Given the description of an element on the screen output the (x, y) to click on. 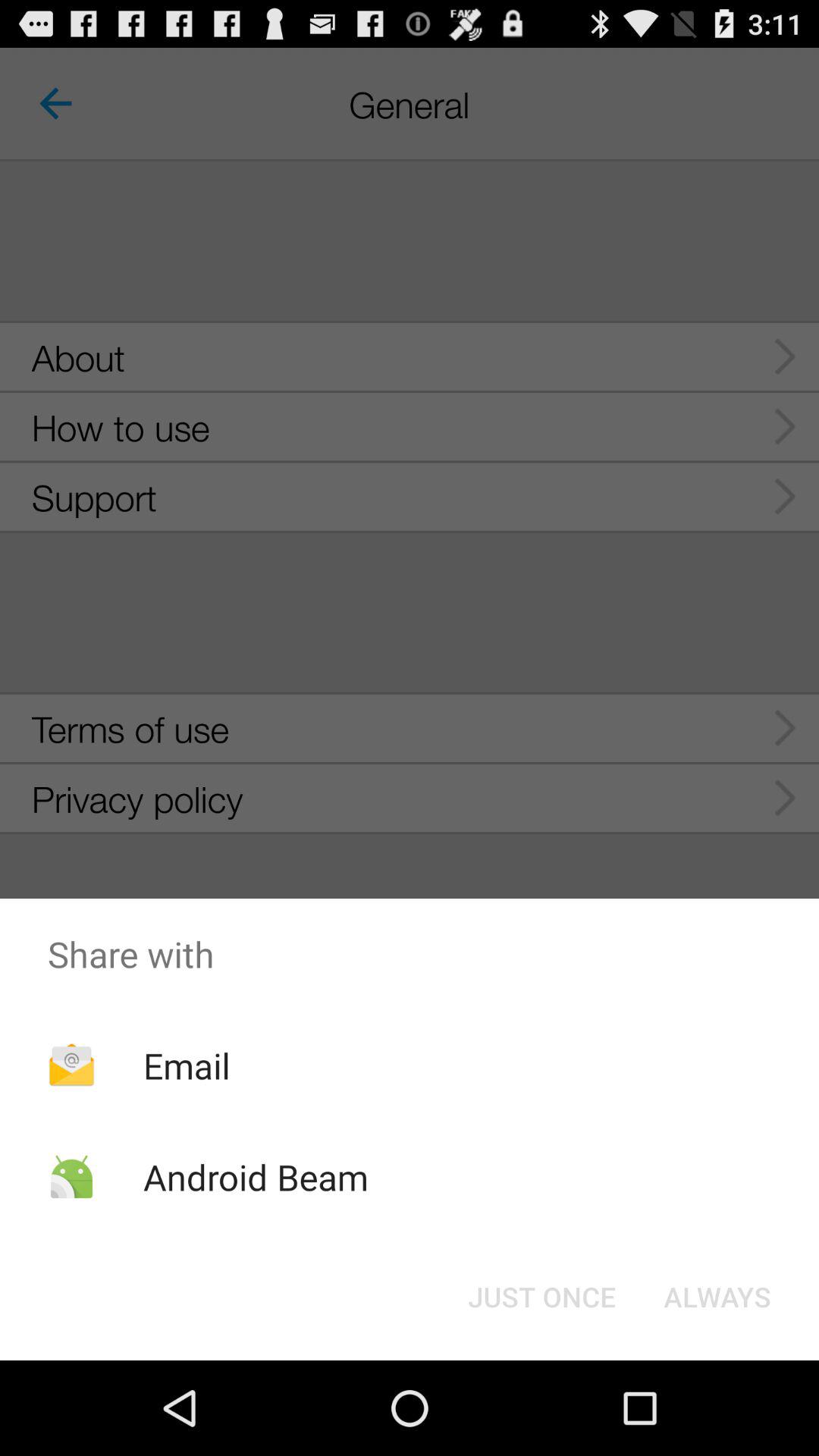
turn on the app above the android beam icon (186, 1065)
